Given the description of an element on the screen output the (x, y) to click on. 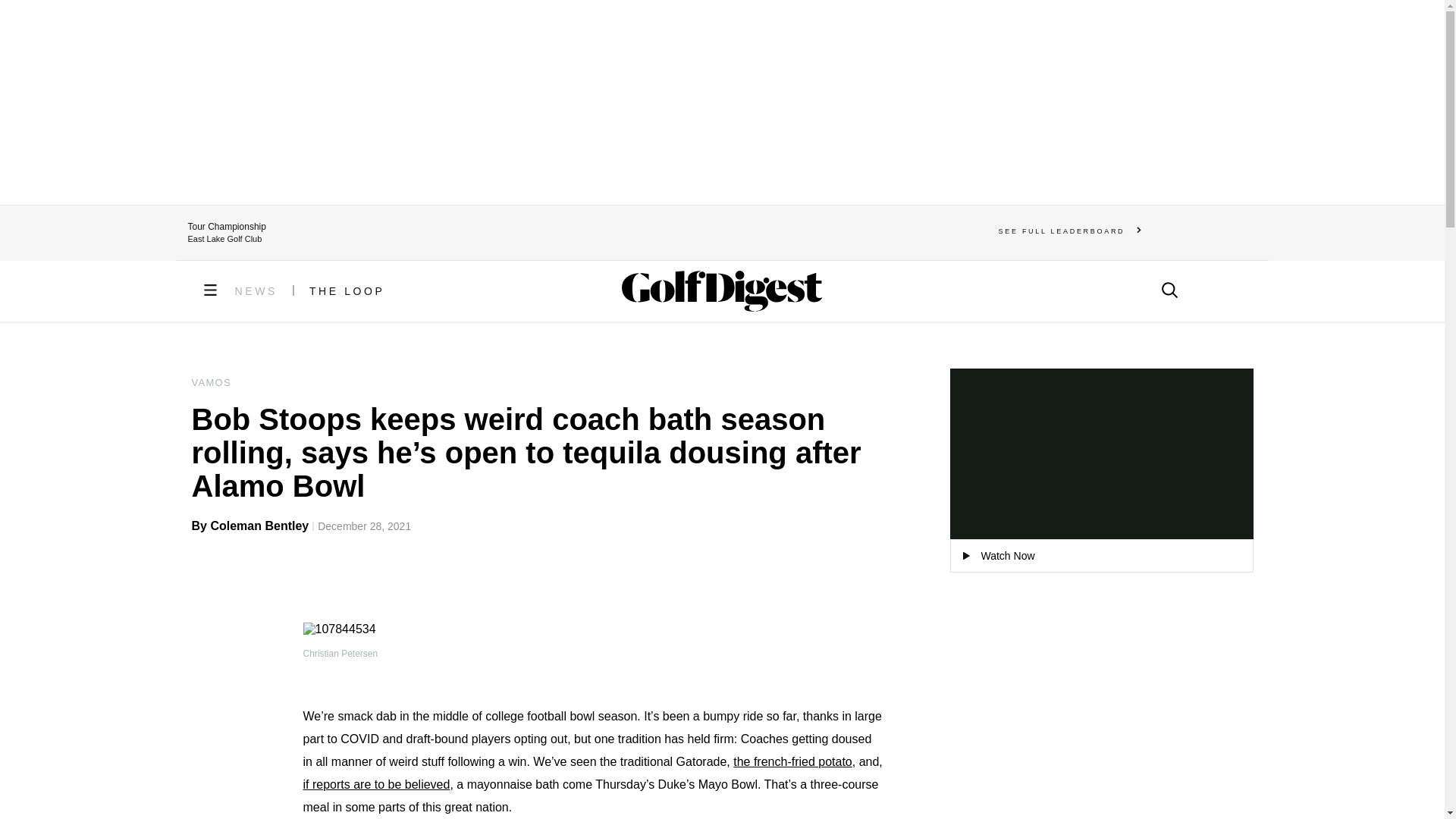
THE LOOP (346, 291)
NEWS (256, 291)
SEE FULL LEADERBOARD (1069, 230)
